Given the description of an element on the screen output the (x, y) to click on. 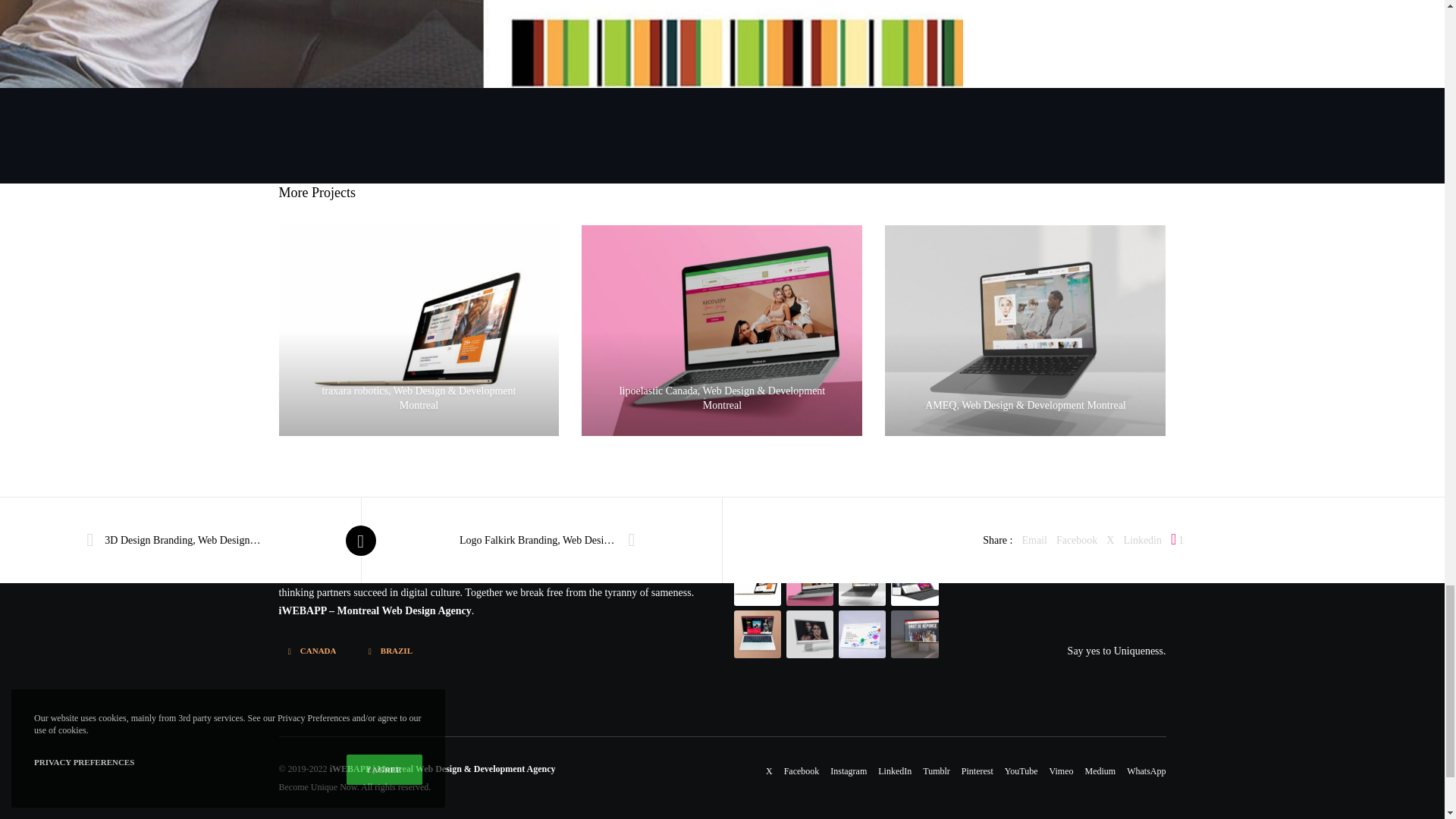
Facebook (1077, 540)
Email (1034, 540)
Linkedin (1141, 540)
